Given the description of an element on the screen output the (x, y) to click on. 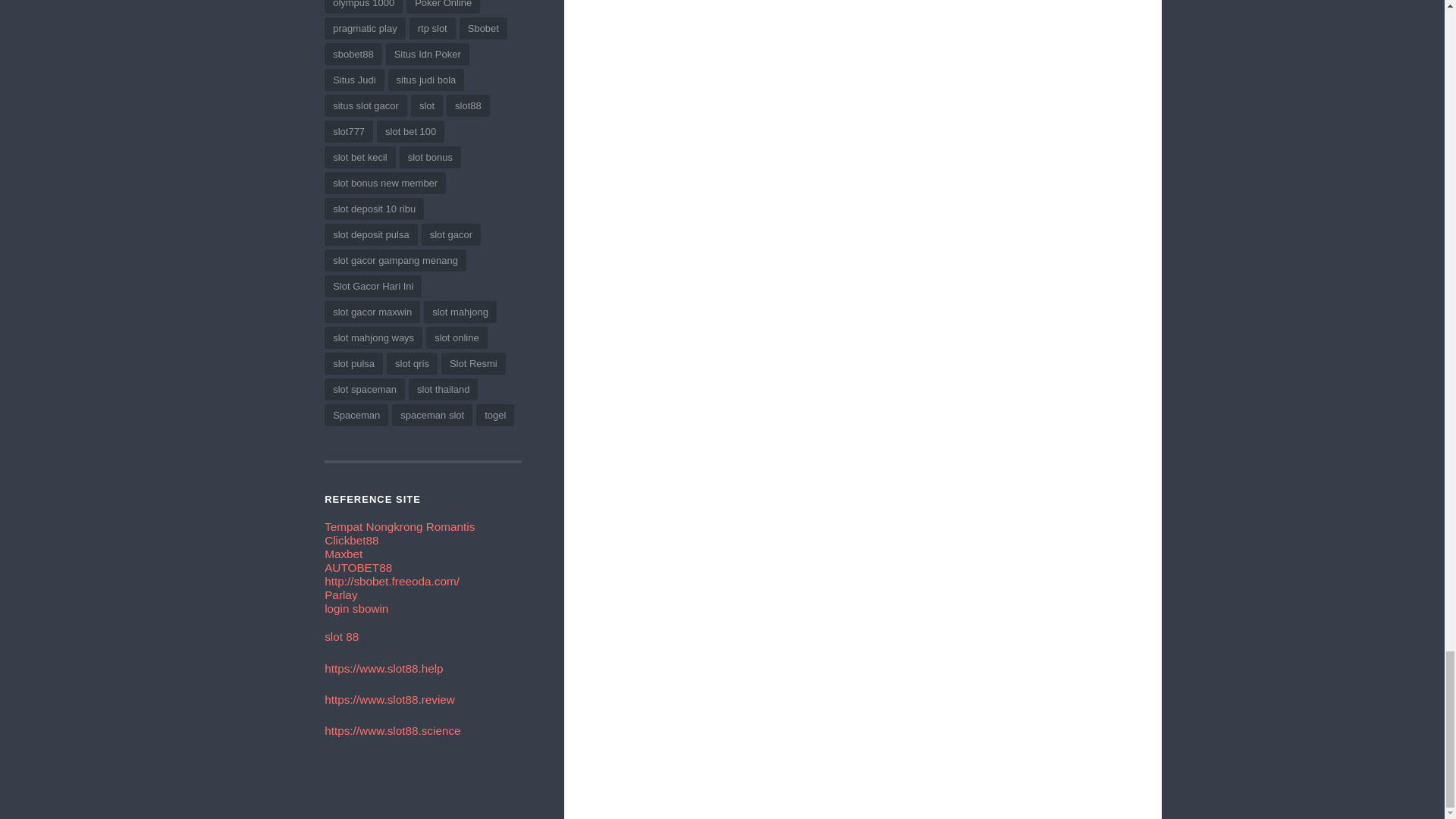
Clickbet88 (351, 540)
Sbobet (392, 581)
Parlay (340, 594)
login sbowin (356, 608)
AUTOBET88 (357, 567)
Maxbet (343, 553)
